Given the description of an element on the screen output the (x, y) to click on. 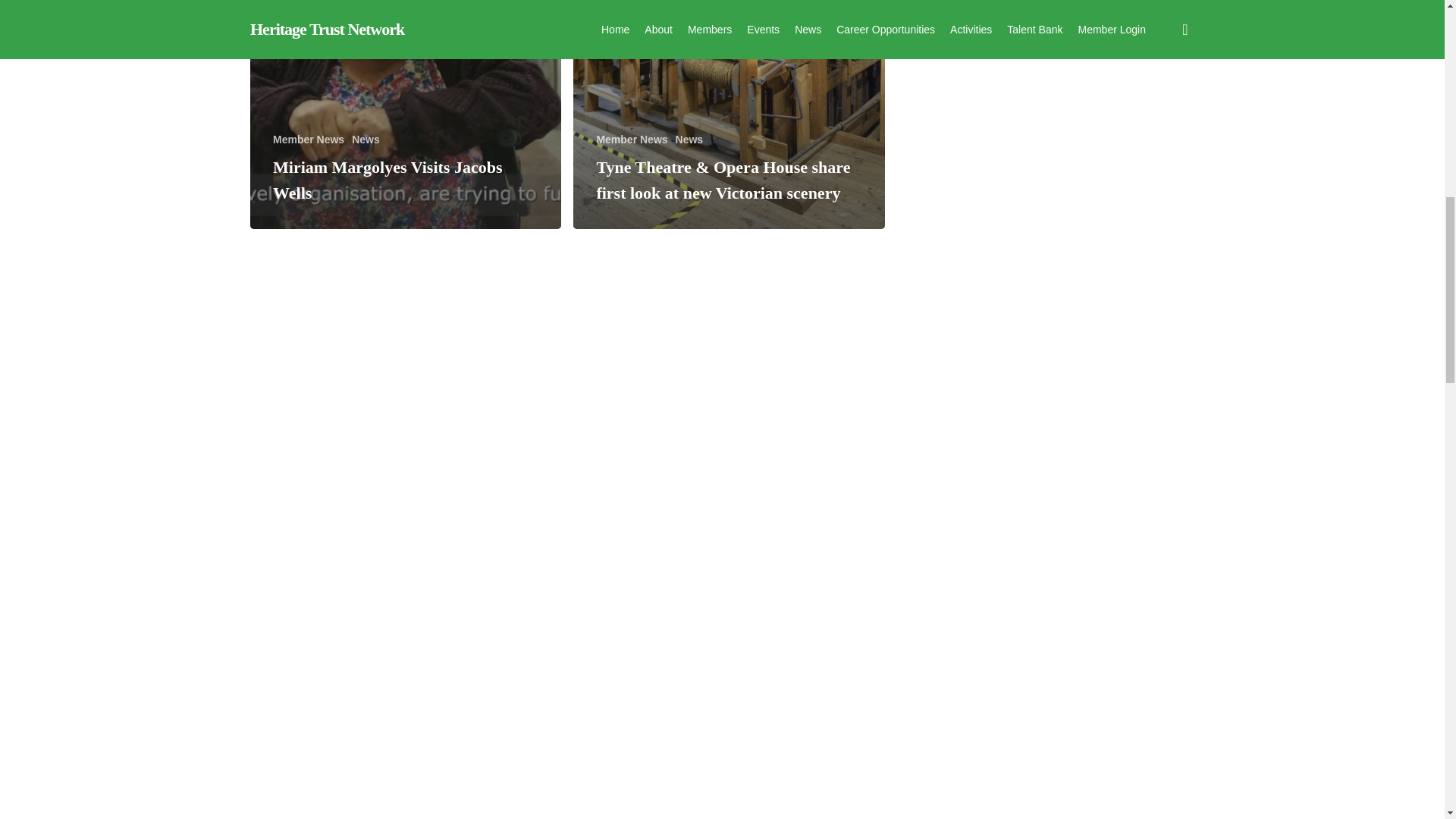
Member News (308, 139)
